Given the description of an element on the screen output the (x, y) to click on. 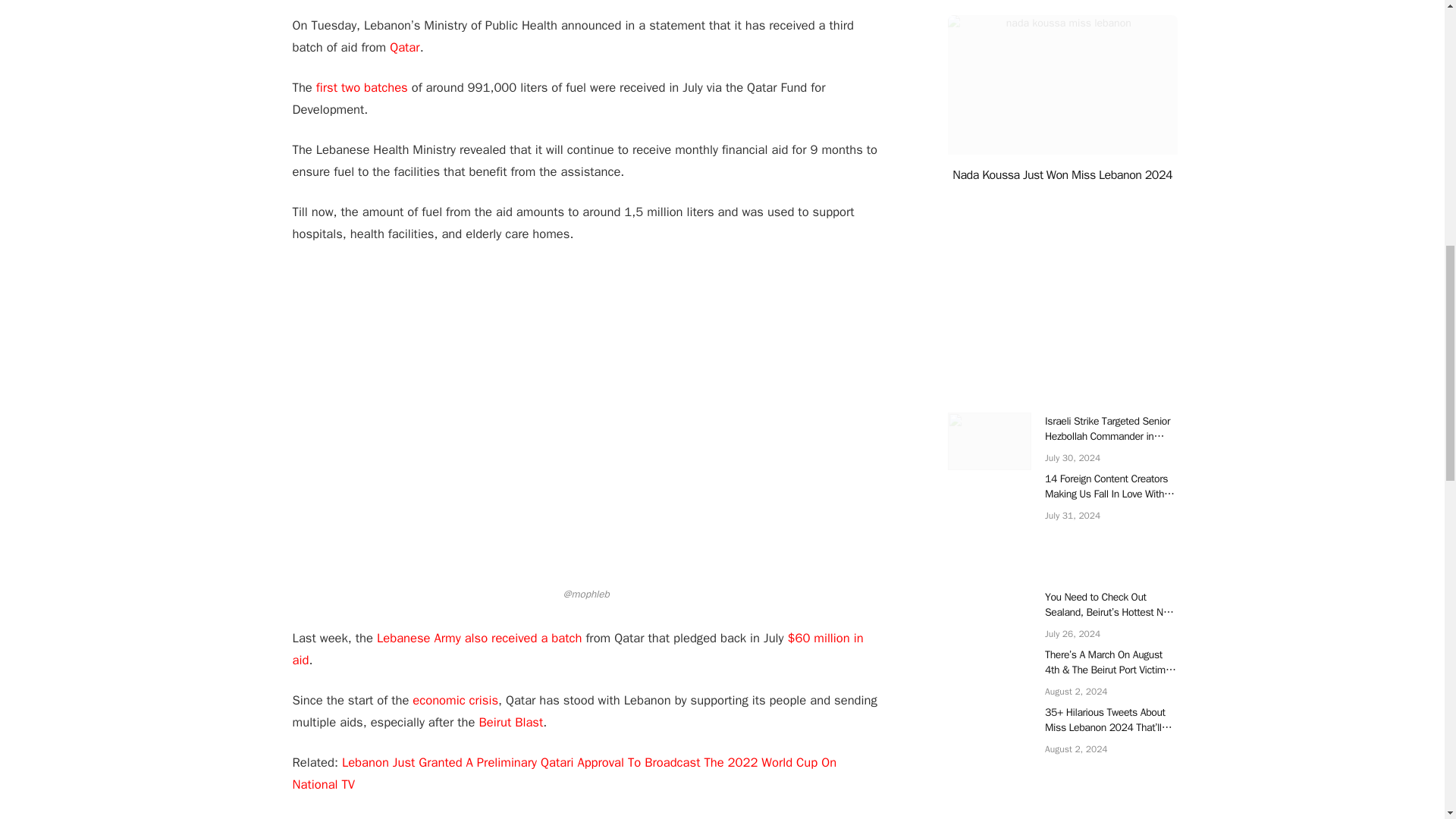
Qatar (404, 47)
economic crisis (454, 700)
Beirut Blast (511, 722)
first two batches (361, 87)
Lebanese Army also received a batch (476, 637)
